Given the description of an element on the screen output the (x, y) to click on. 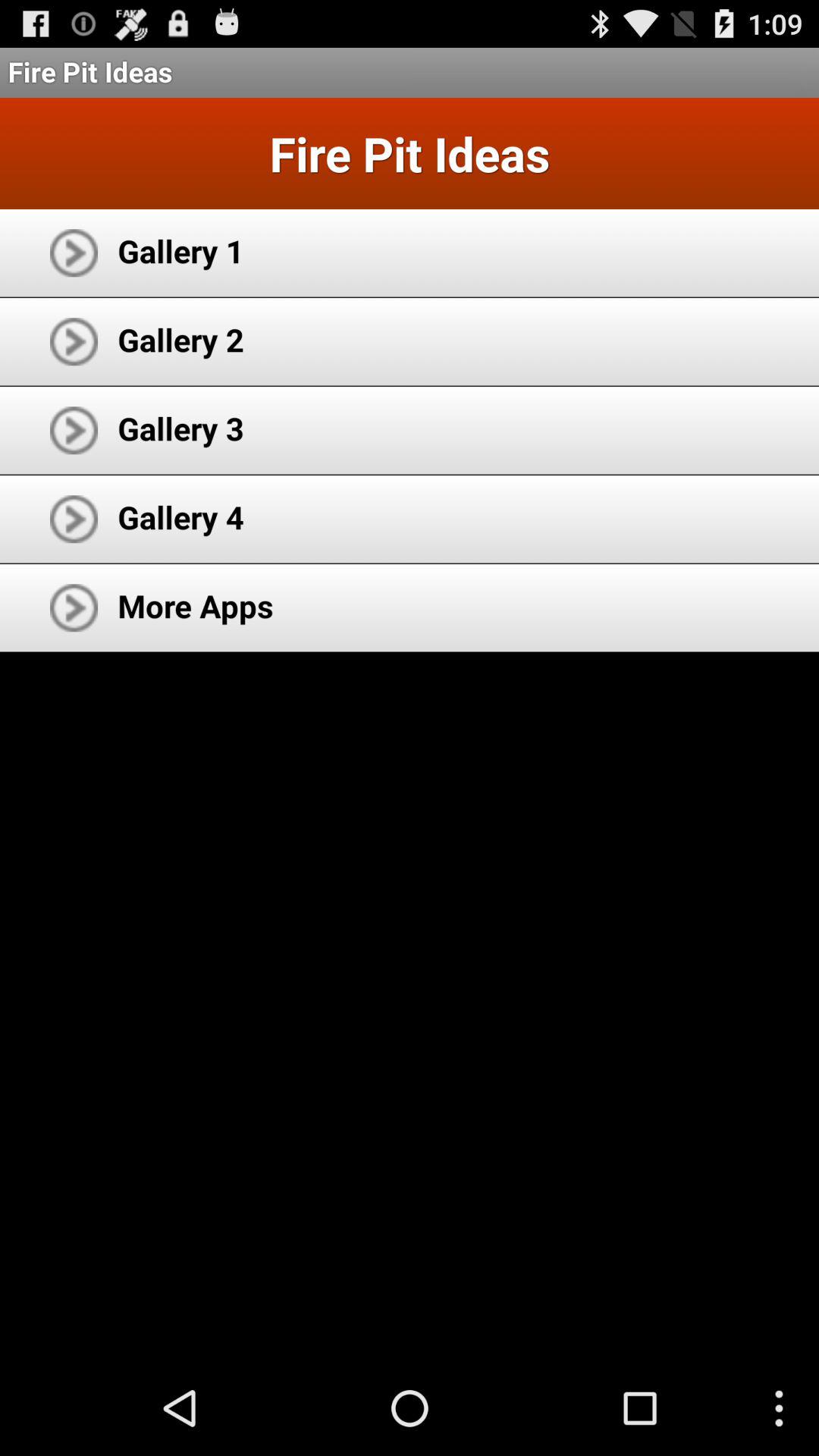
turn on app below the gallery 1 item (180, 339)
